Given the description of an element on the screen output the (x, y) to click on. 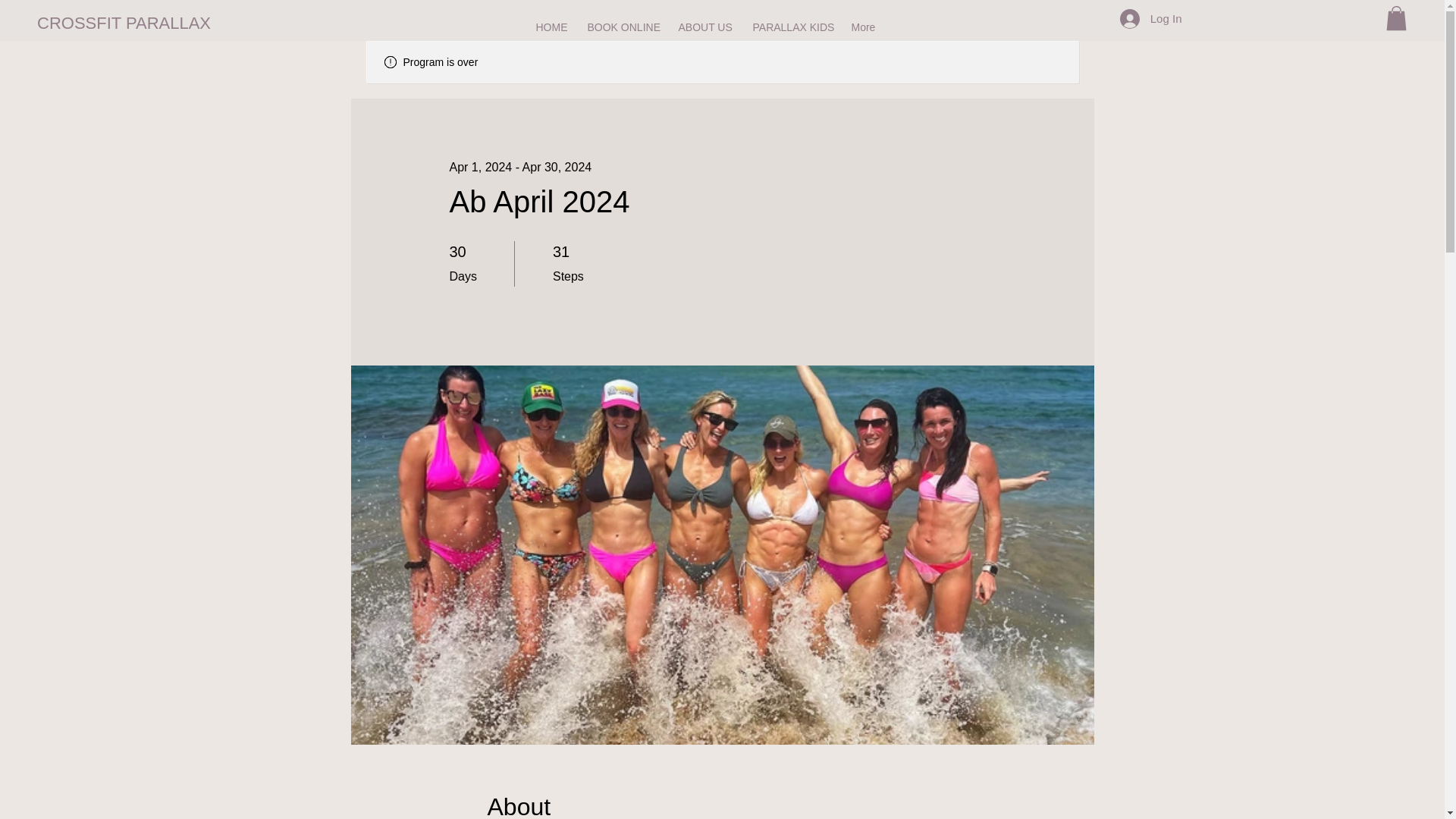
Log In (1150, 18)
BOOK ONLINE (621, 27)
CROSSFIT PARALLAX (124, 23)
HOME (550, 27)
